Given the description of an element on the screen output the (x, y) to click on. 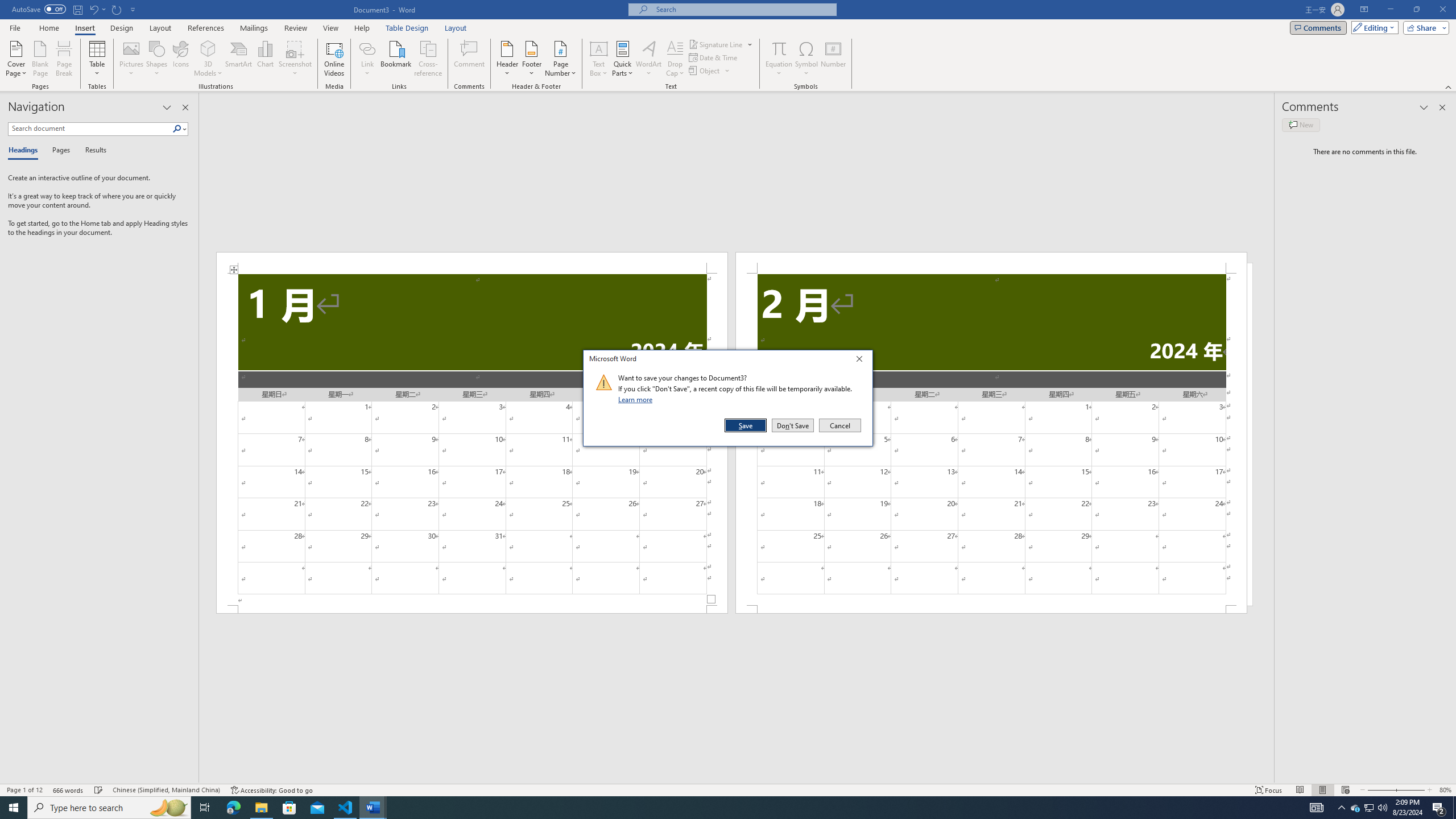
Minimize (1390, 9)
Insert (83, 28)
Microsoft Edge (233, 807)
Symbol (806, 58)
Signature Line (721, 44)
Pictures (131, 58)
Search (177, 128)
Mode (1372, 27)
Restore Down (1416, 9)
Zoom Out (1378, 790)
3D Models (208, 58)
References (205, 28)
Object... (709, 69)
Spelling and Grammar Check Checking (98, 790)
